Given the description of an element on the screen output the (x, y) to click on. 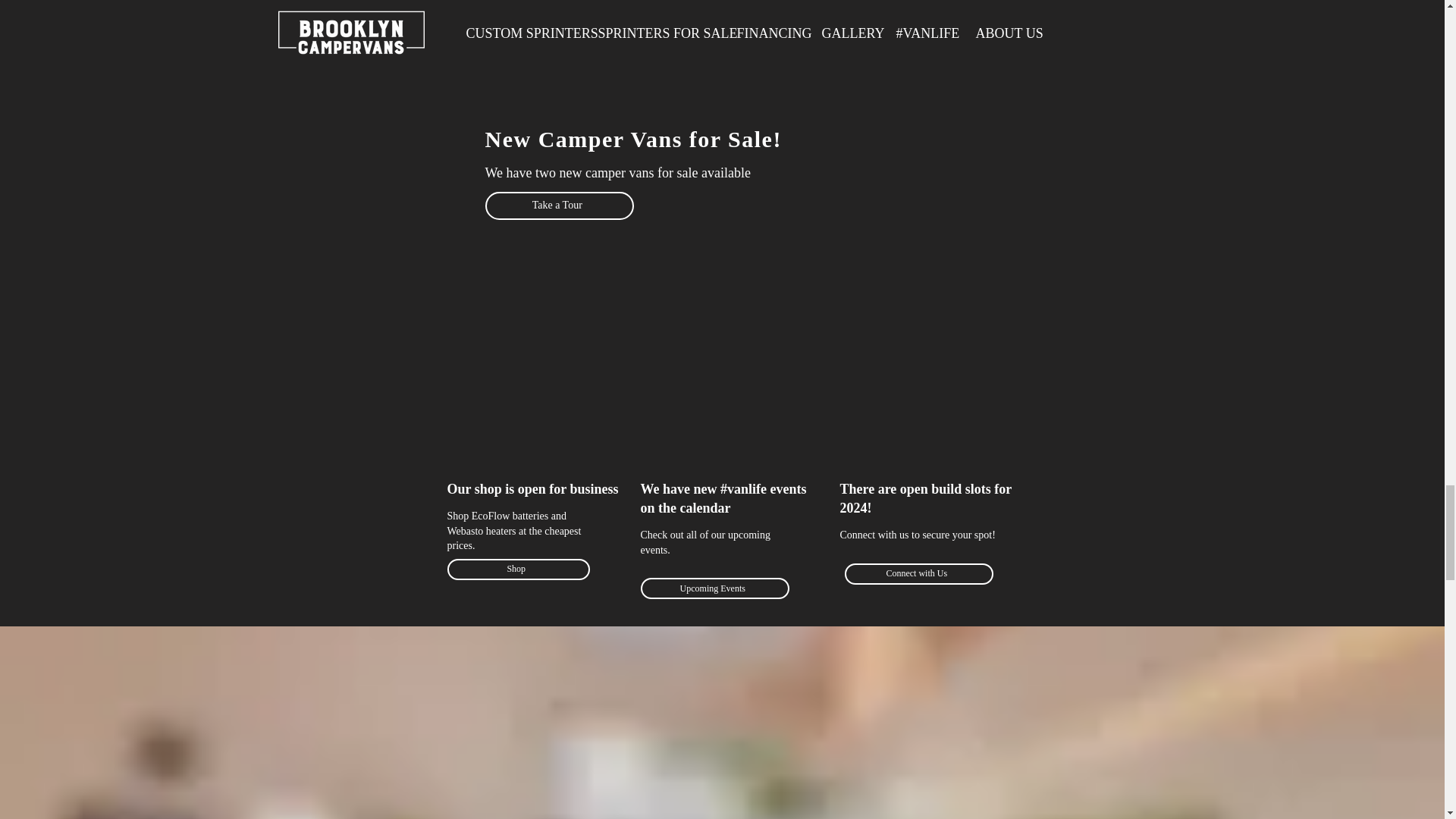
Shop (517, 568)
Take a Tour (558, 205)
Connect with Us (918, 573)
Upcoming Events (714, 588)
